Given the description of an element on the screen output the (x, y) to click on. 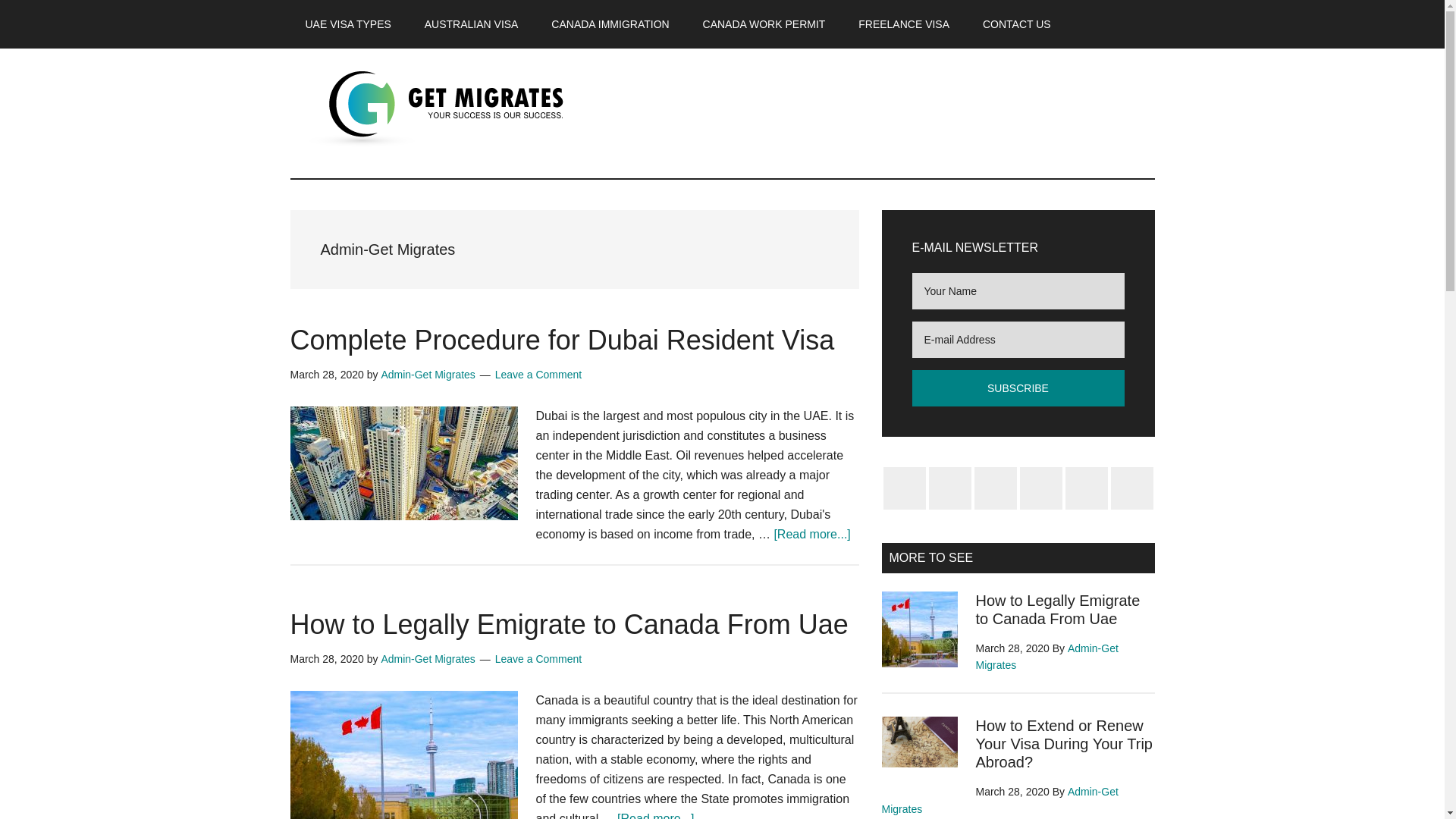
CONTACT US (1016, 24)
Leave a Comment (537, 374)
Leave a Comment (537, 658)
Admin-Get Migrates (427, 658)
Subscribe (1017, 388)
CANADA WORK PERMIT (764, 24)
Complete Procedure for Dubai Resident Visa (561, 339)
Subscribe (1017, 388)
AUSTRALIAN VISA (471, 24)
UAE VISA TYPES (347, 24)
CANADA IMMIGRATION (609, 24)
FREELANCE VISA (903, 24)
How to Legally Emigrate to Canada From Uae (568, 624)
Admin-Get Migrates (427, 374)
